Given the description of an element on the screen output the (x, y) to click on. 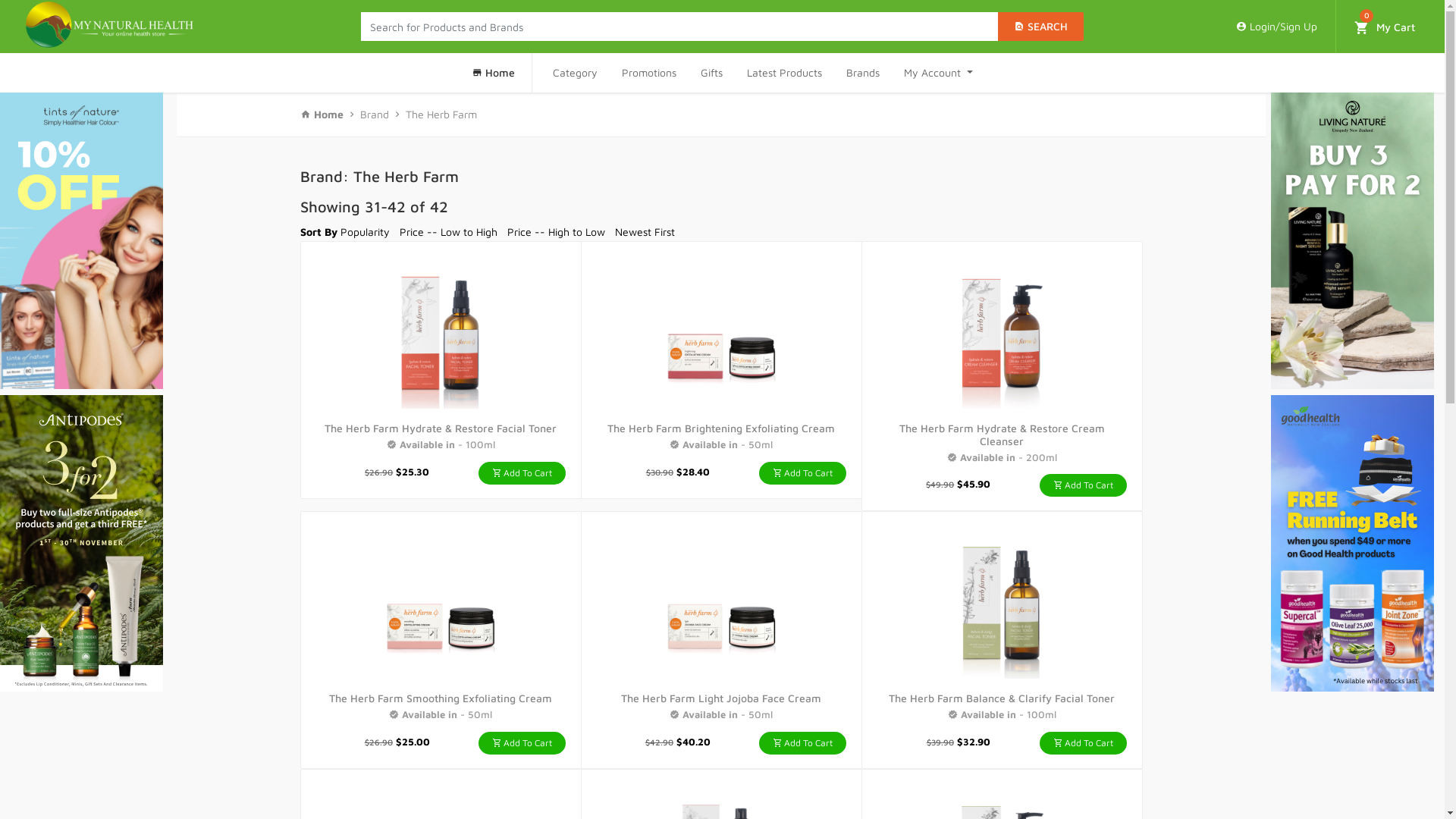
Living Nature 2 Element type: hover (1352, 240)
Promotions Element type: text (648, 72)
SEARCH Element type: text (1040, 26)
Popularity Element type: text (364, 231)
The Herb Farm Smoothing Exfoliating Cream Element type: text (440, 697)
Price -- High to Low Element type: text (556, 231)
Tints of Nature Element type: hover (81, 240)
The Herb Farm Hydrate & Restore Facial Toner Element type: text (440, 427)
Brands Element type: text (862, 72)
Category Element type: text (574, 72)
The Herb Farm Hydrate & Restore Cream Cleanser Element type: text (1001, 434)
The Herb Farm Light Jojoba Face Cream Element type: hover (721, 602)
Gifts Element type: text (711, 72)
The Herb Farm Smoothing Exfoliating Cream Element type: hover (440, 602)
Brand Element type: text (374, 113)
Home Element type: text (321, 113)
Latest Products Element type: text (784, 72)
Home Element type: text (495, 72)
My Cart
0 Element type: text (1384, 26)
Newest First Element type: text (644, 231)
The Herb Farm Hydrate & Restore Cream Cleanser Element type: hover (1001, 332)
The Herb Farm Hydrate & Restore Facial Toner Element type: hover (440, 332)
Add To Cart Element type: text (1082, 484)
The Herb Farm Brightening Exfoliating Cream Element type: text (720, 427)
Add To Cart Element type: text (521, 472)
Price -- Low to High Element type: text (448, 231)
Add To Cart Element type: text (1082, 742)
Add To Cart Element type: text (802, 472)
Add To Cart Element type: text (802, 742)
Login/Sign Up Element type: text (1276, 26)
The Herb Farm Balance & Clarify Facial Toner Element type: hover (1001, 602)
The Herb Farm Light Jojoba Face Cream Element type: text (721, 697)
Add To Cart Element type: text (521, 742)
Good Health  Element type: hover (1352, 543)
Antipodes Element type: hover (81, 543)
The Herb Farm Brightening Exfoliating Cream Element type: hover (721, 332)
My Account Element type: text (938, 72)
The Herb Farm Balance & Clarify Facial Toner Element type: text (1001, 697)
